Given the description of an element on the screen output the (x, y) to click on. 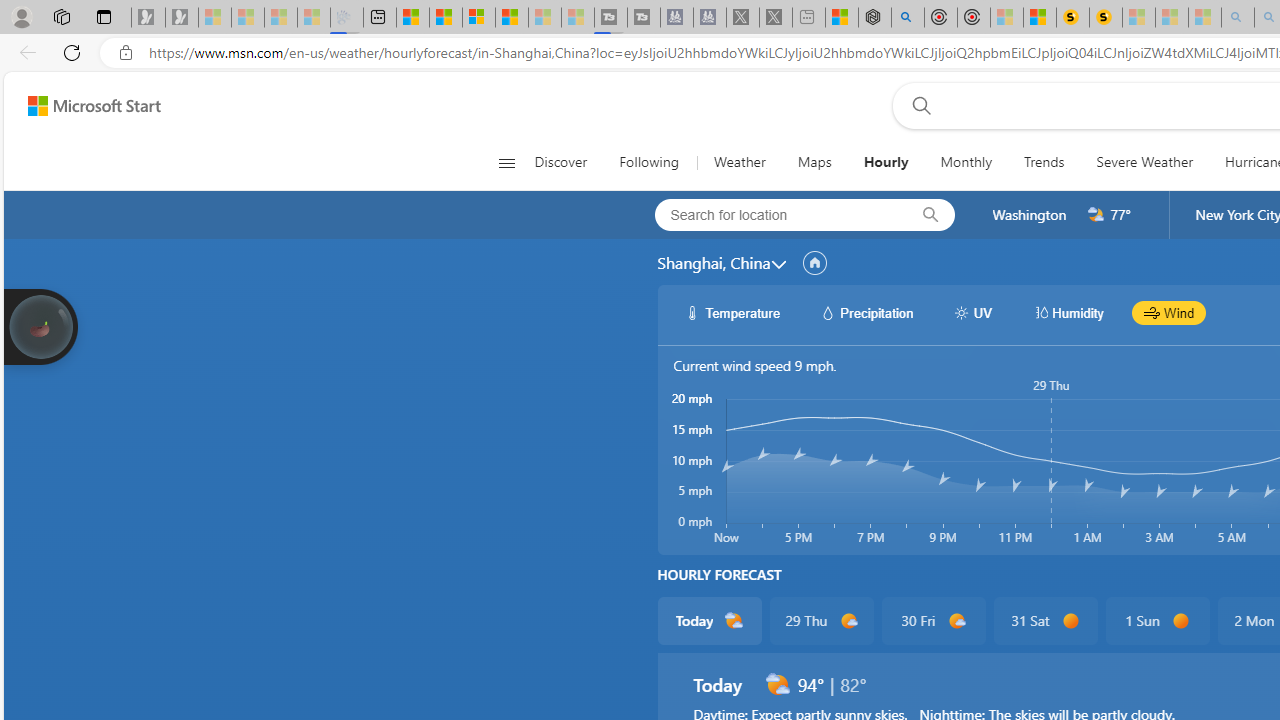
hourlyChart/temperatureWhite Temperature (733, 312)
Severe Weather (1144, 162)
Newsletter Sign Up - Sleeping (182, 17)
Join us in planting real trees to help our planet! (40, 325)
hourlyChart/uvWhite UV (972, 312)
